Given the description of an element on the screen output the (x, y) to click on. 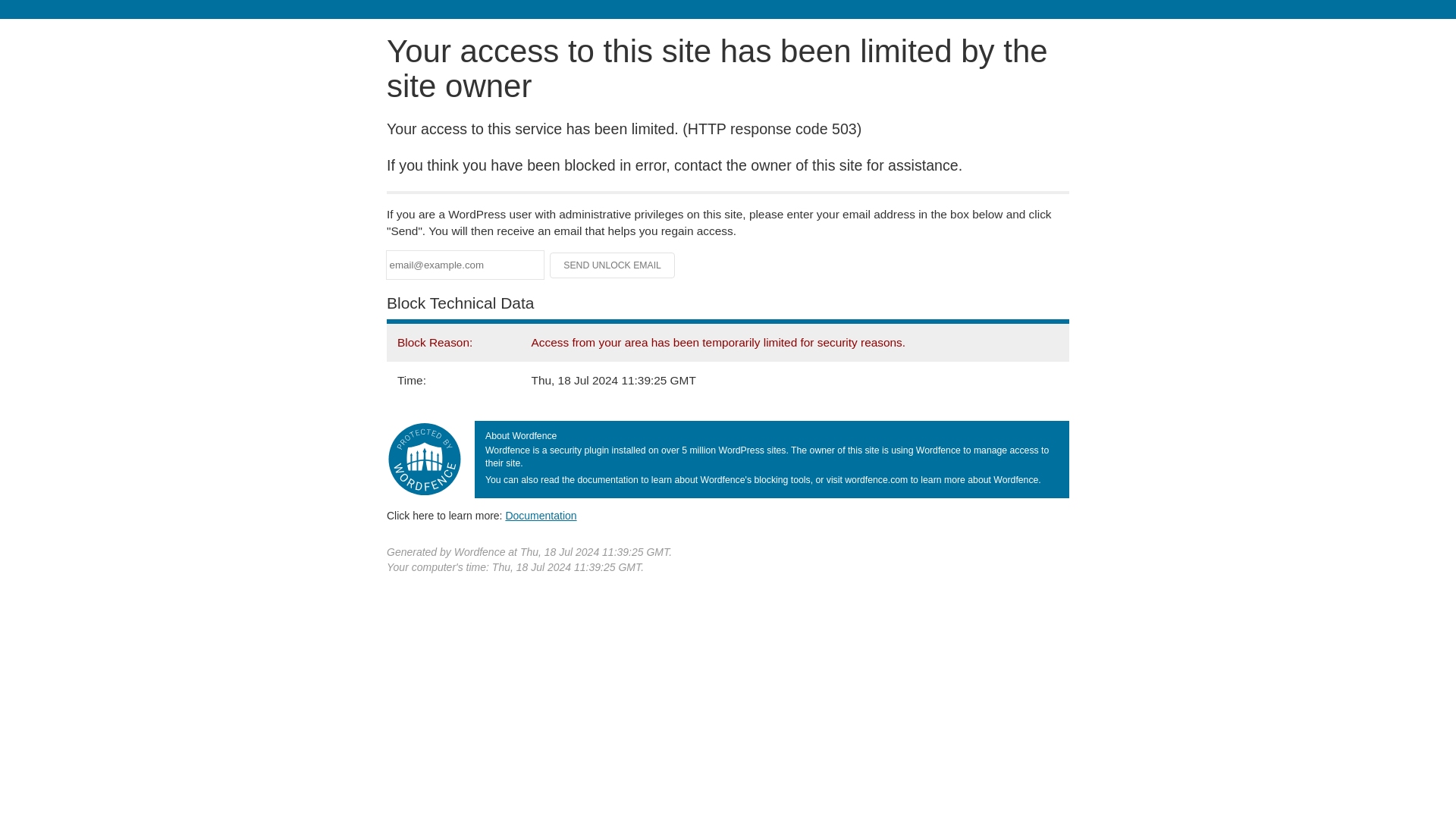
Send Unlock Email (612, 265)
Documentation (540, 515)
Send Unlock Email (612, 265)
